Given the description of an element on the screen output the (x, y) to click on. 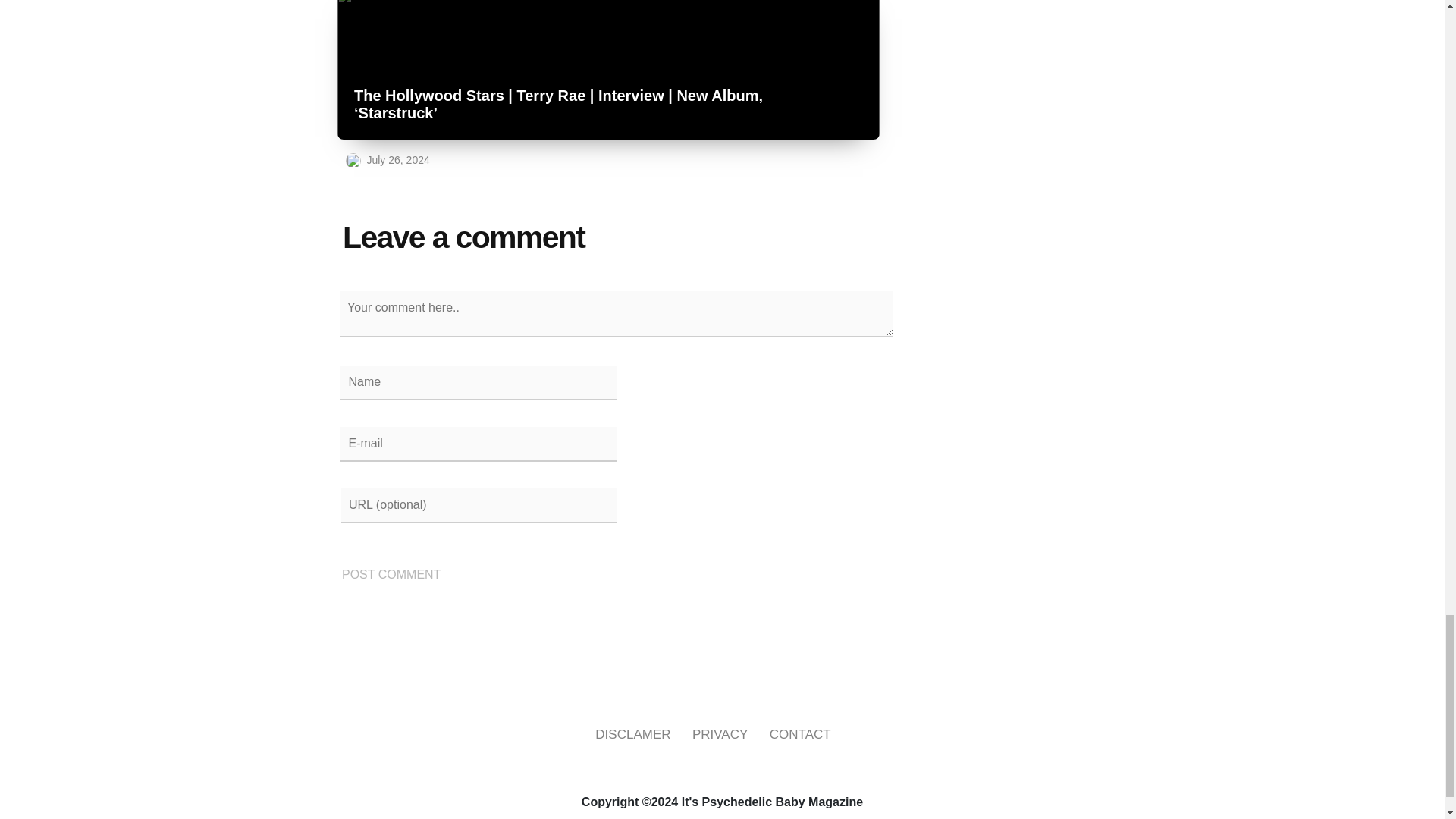
Post Comment (391, 574)
